Given the description of an element on the screen output the (x, y) to click on. 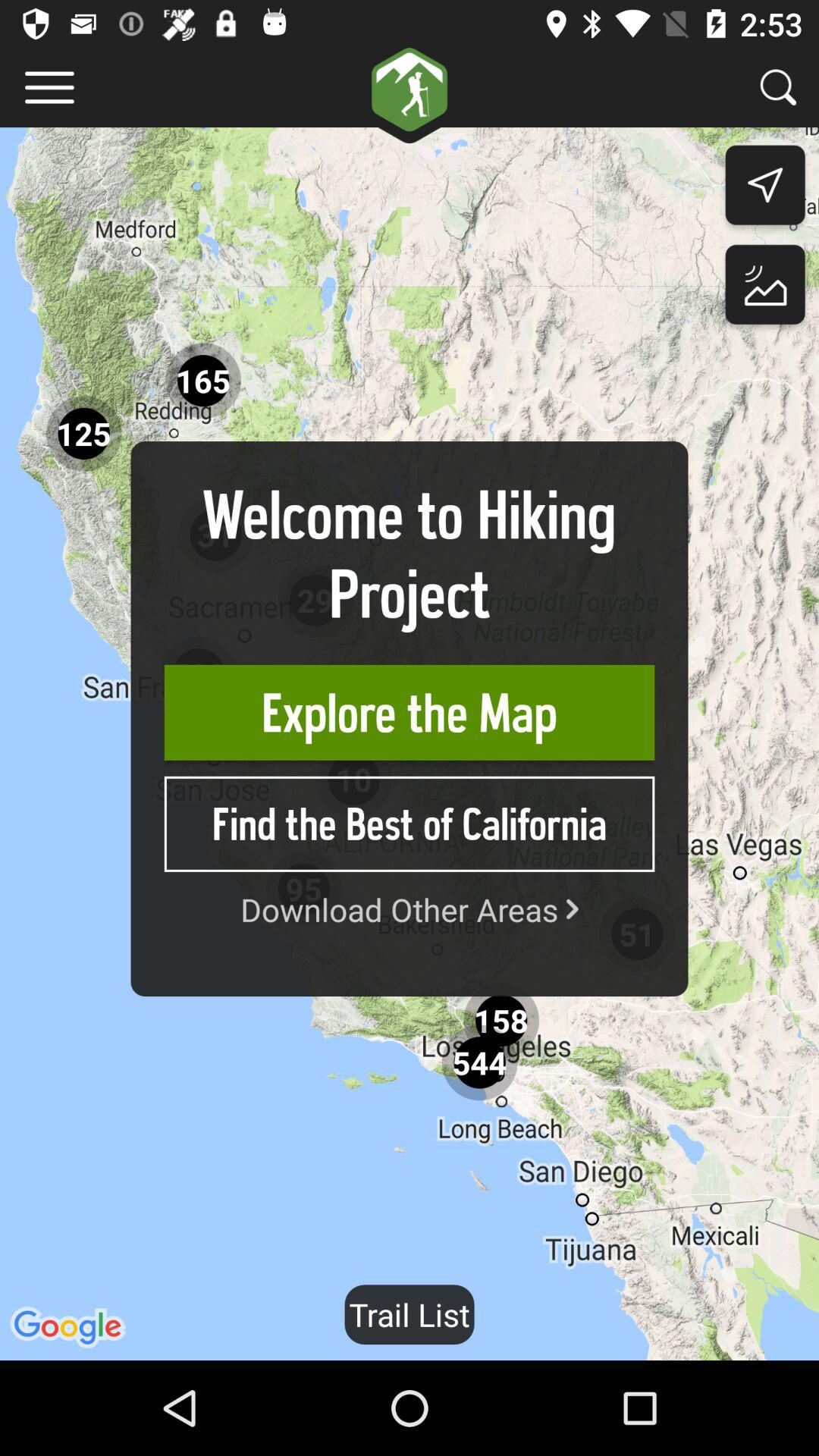
menu slider option (49, 87)
